Given the description of an element on the screen output the (x, y) to click on. 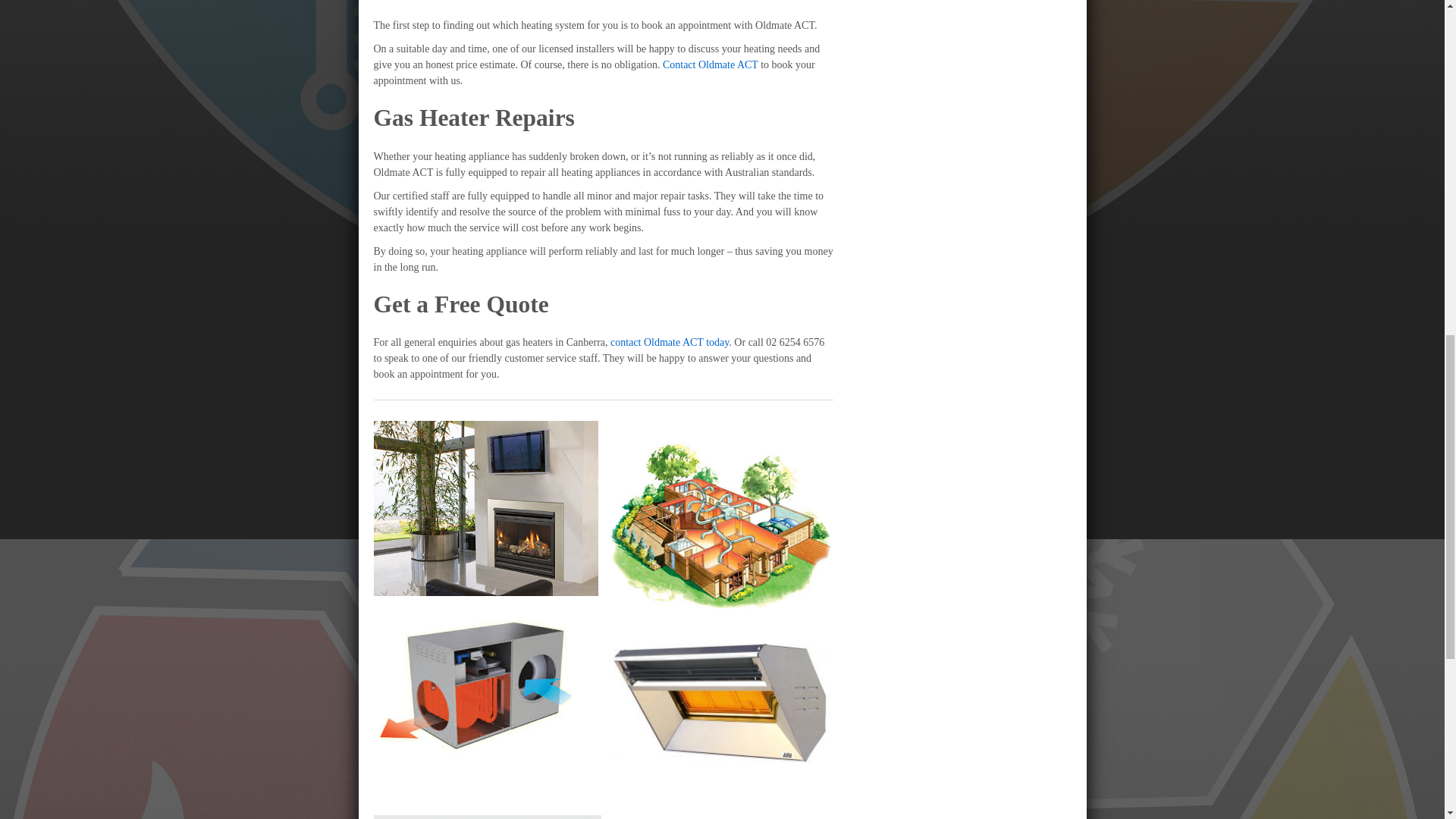
Heating Appliance Repair (485, 816)
Gas Heater (720, 699)
contact Oldmate ACT today (669, 342)
Duct Schematics (720, 525)
Heating Appliance (474, 685)
Log Fireplace (485, 507)
Contact Oldmate ACT (710, 64)
